Given the description of an element on the screen output the (x, y) to click on. 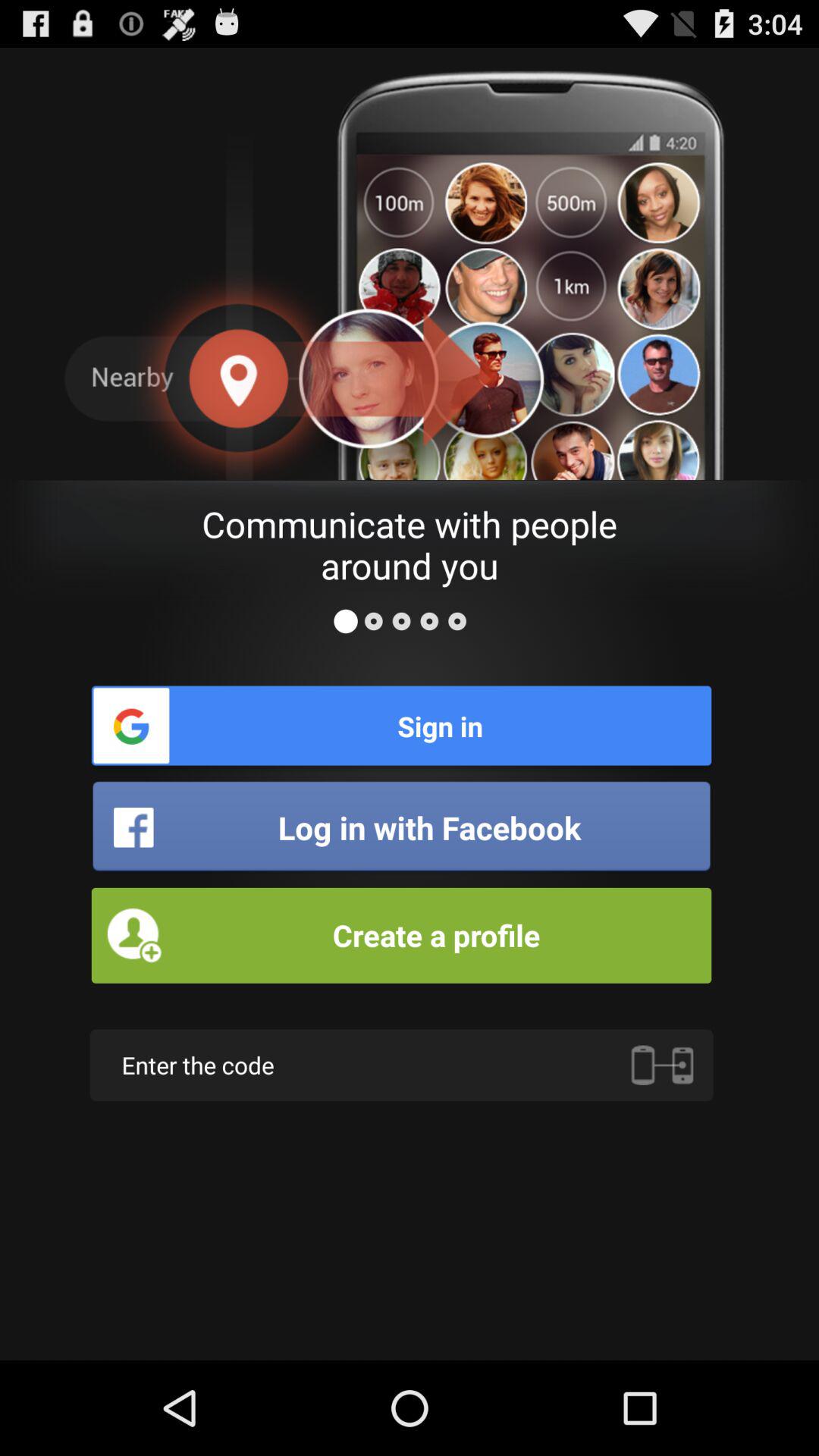
press enter the code (401, 1065)
